Given the description of an element on the screen output the (x, y) to click on. 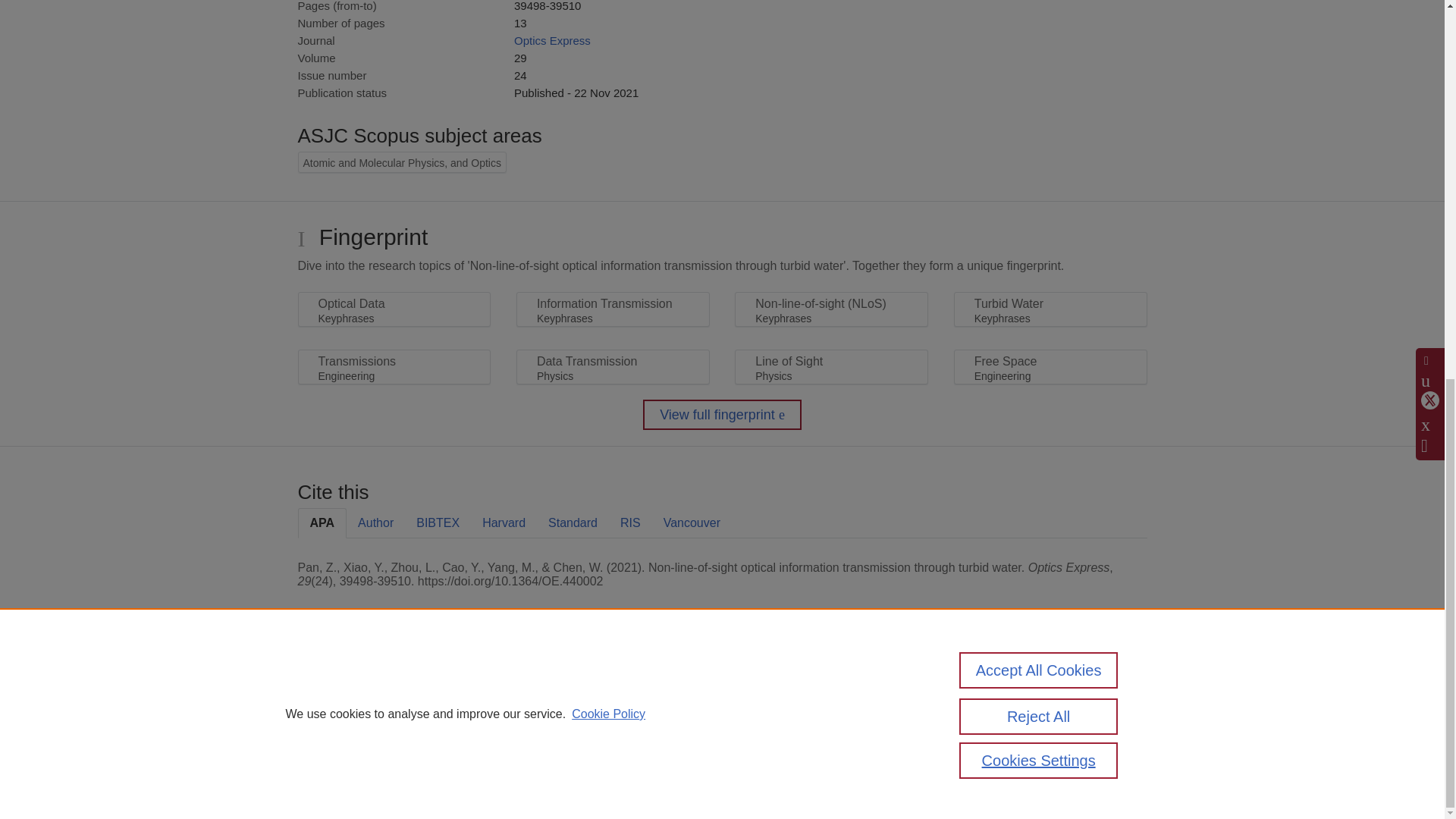
View full fingerprint (722, 414)
Optics Express (552, 40)
